Given the description of an element on the screen output the (x, y) to click on. 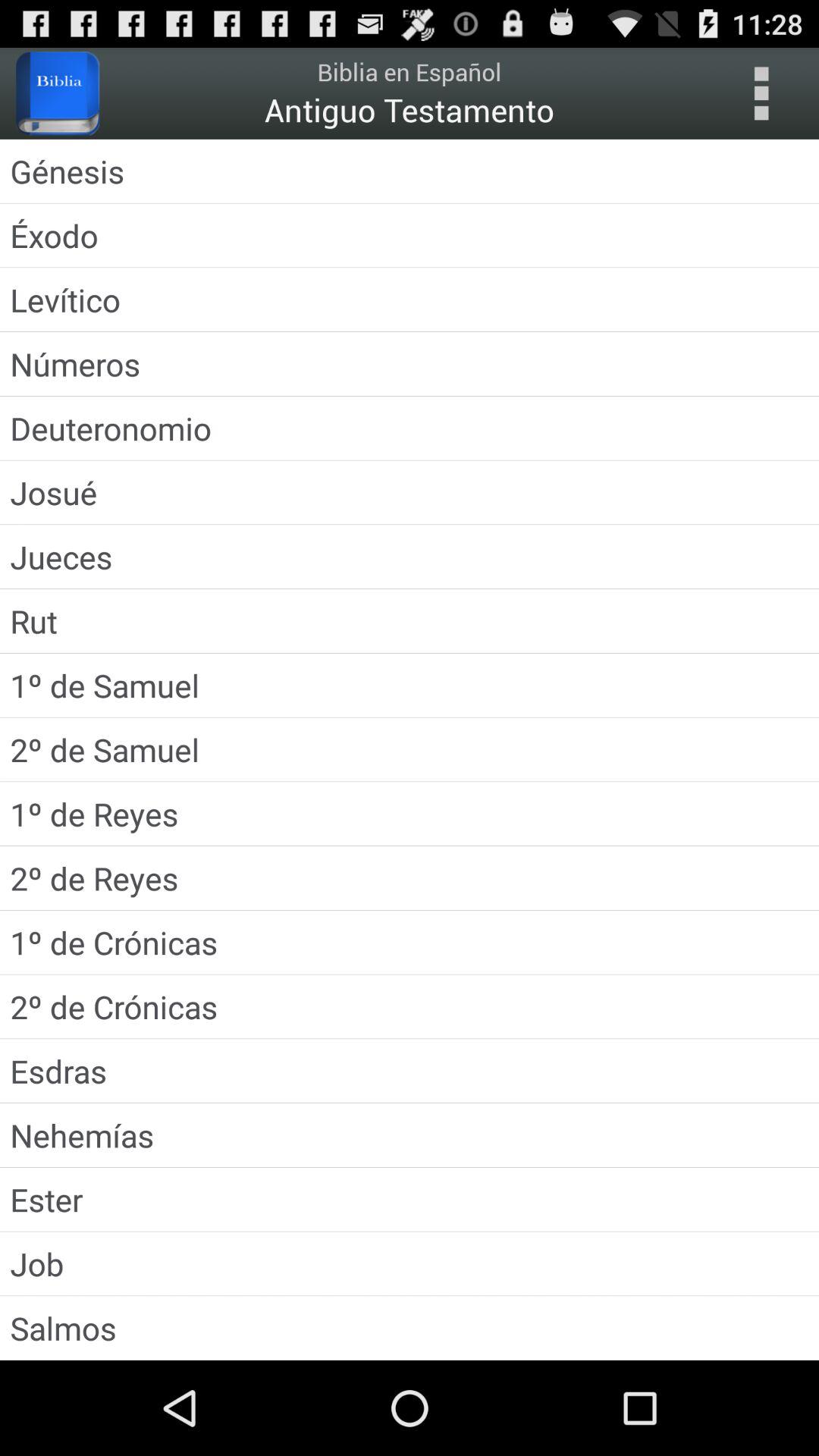
press icon below job icon (409, 1327)
